Given the description of an element on the screen output the (x, y) to click on. 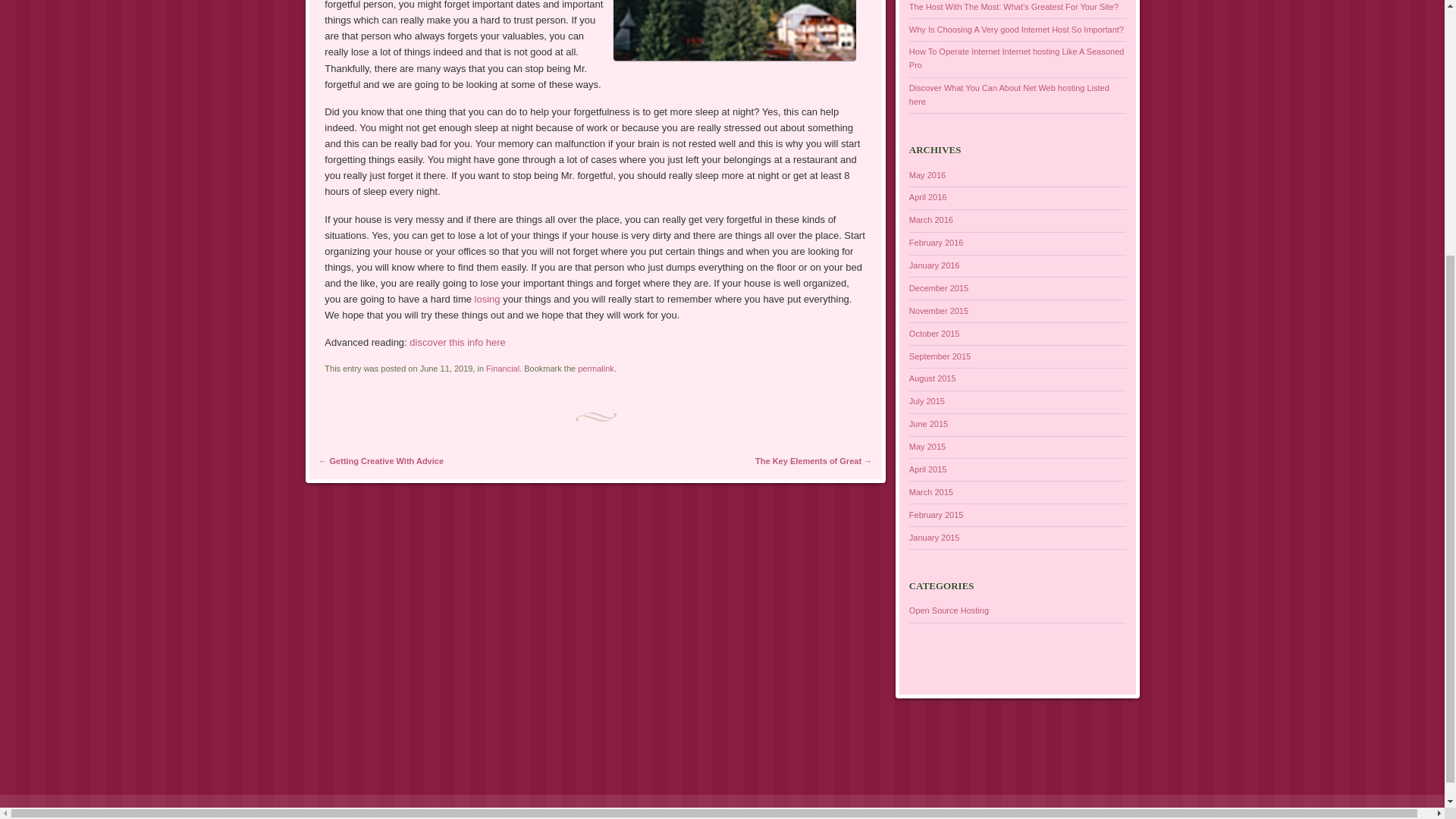
Permalink to The Path To Finding Better (596, 368)
November 2015 (938, 310)
permalink (596, 368)
January 2015 (933, 537)
February 2015 (935, 514)
December 2015 (938, 287)
September 2015 (939, 356)
Why Is Choosing A Very good Internet Host So Important? (1016, 29)
April 2016 (927, 196)
Financial (502, 368)
April 2015 (927, 469)
July 2015 (926, 400)
March 2015 (930, 491)
losing (488, 298)
How To Operate Internet Internet hosting Like A Seasoned Pro (1016, 57)
